Given the description of an element on the screen output the (x, y) to click on. 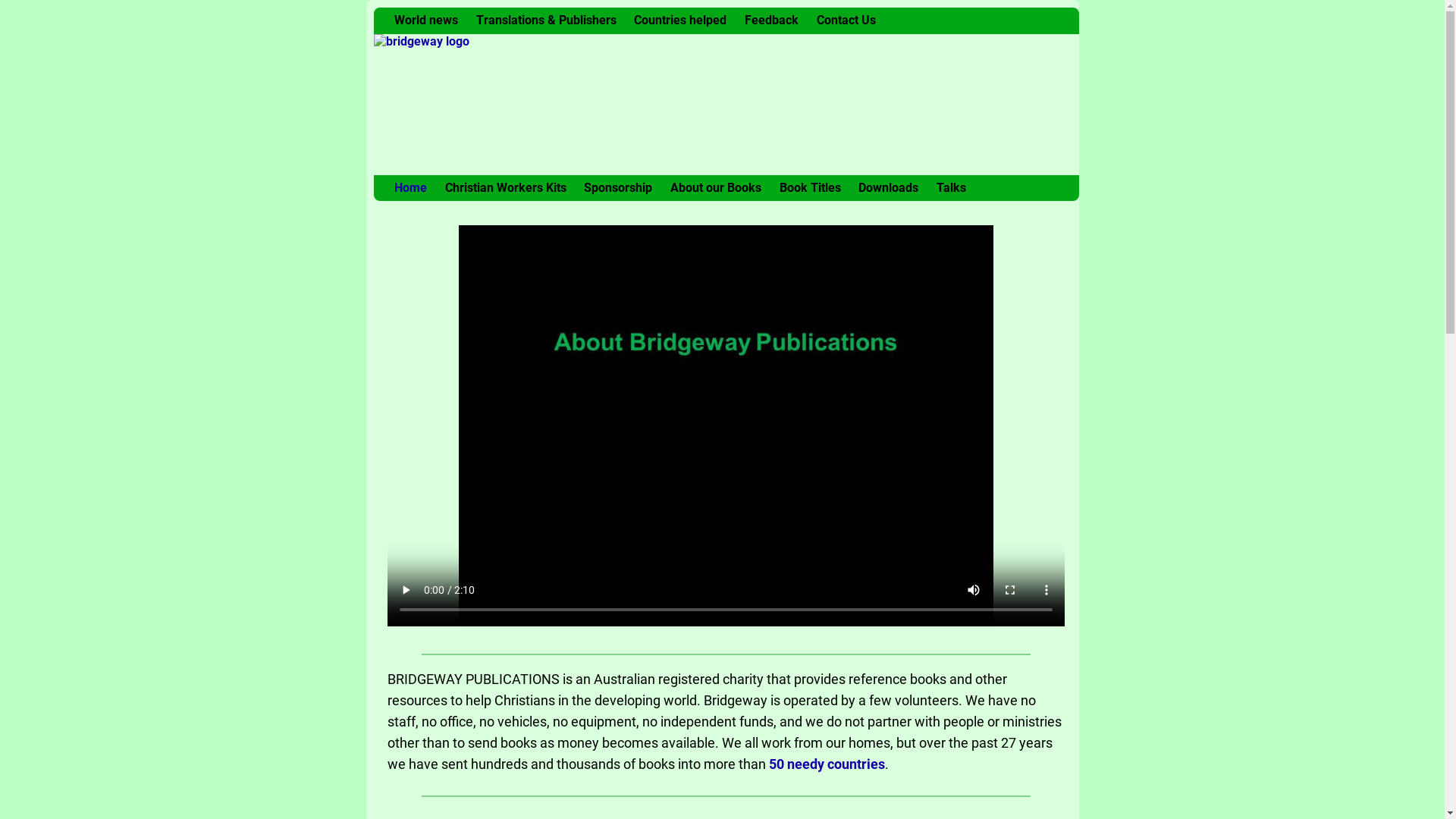
50 needy countries Element type: text (826, 763)
Home Element type: text (410, 188)
Translations & Publishers Element type: text (546, 20)
Feedback Element type: text (771, 20)
Book Titles Element type: text (810, 188)
Christian Workers Kits Element type: text (505, 188)
Talks Element type: text (951, 188)
World news Element type: text (426, 20)
Countries helped Element type: text (679, 20)
Sponsorship Element type: text (617, 188)
Downloads Element type: text (888, 188)
Contact Us Element type: text (845, 20)
About our Books Element type: text (715, 188)
